Given the description of an element on the screen output the (x, y) to click on. 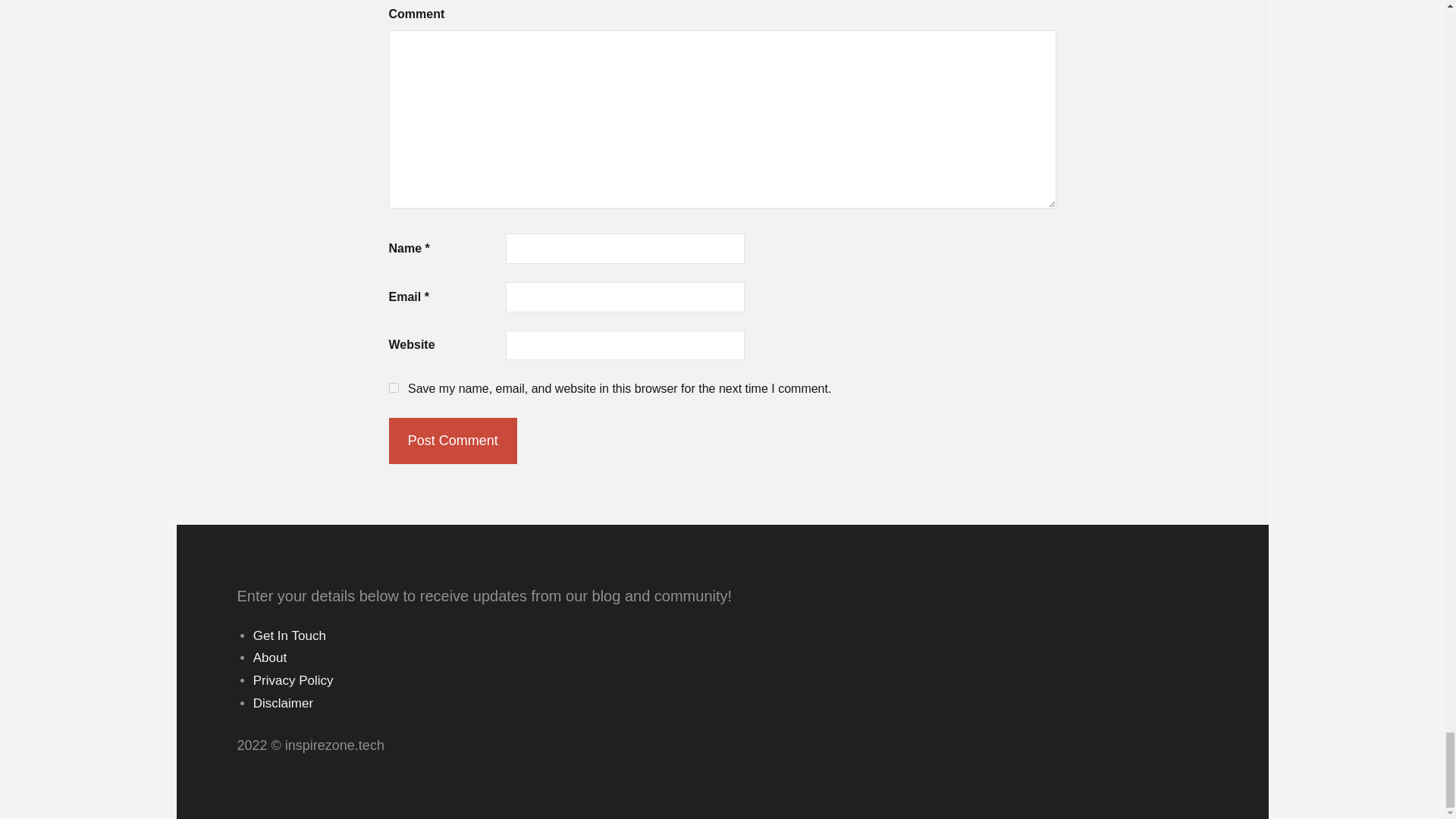
Post Comment (452, 440)
yes (392, 388)
About (269, 657)
Post Comment (452, 440)
Privacy Policy (293, 680)
Disclaimer (283, 703)
Get In Touch (289, 635)
